Given the description of an element on the screen output the (x, y) to click on. 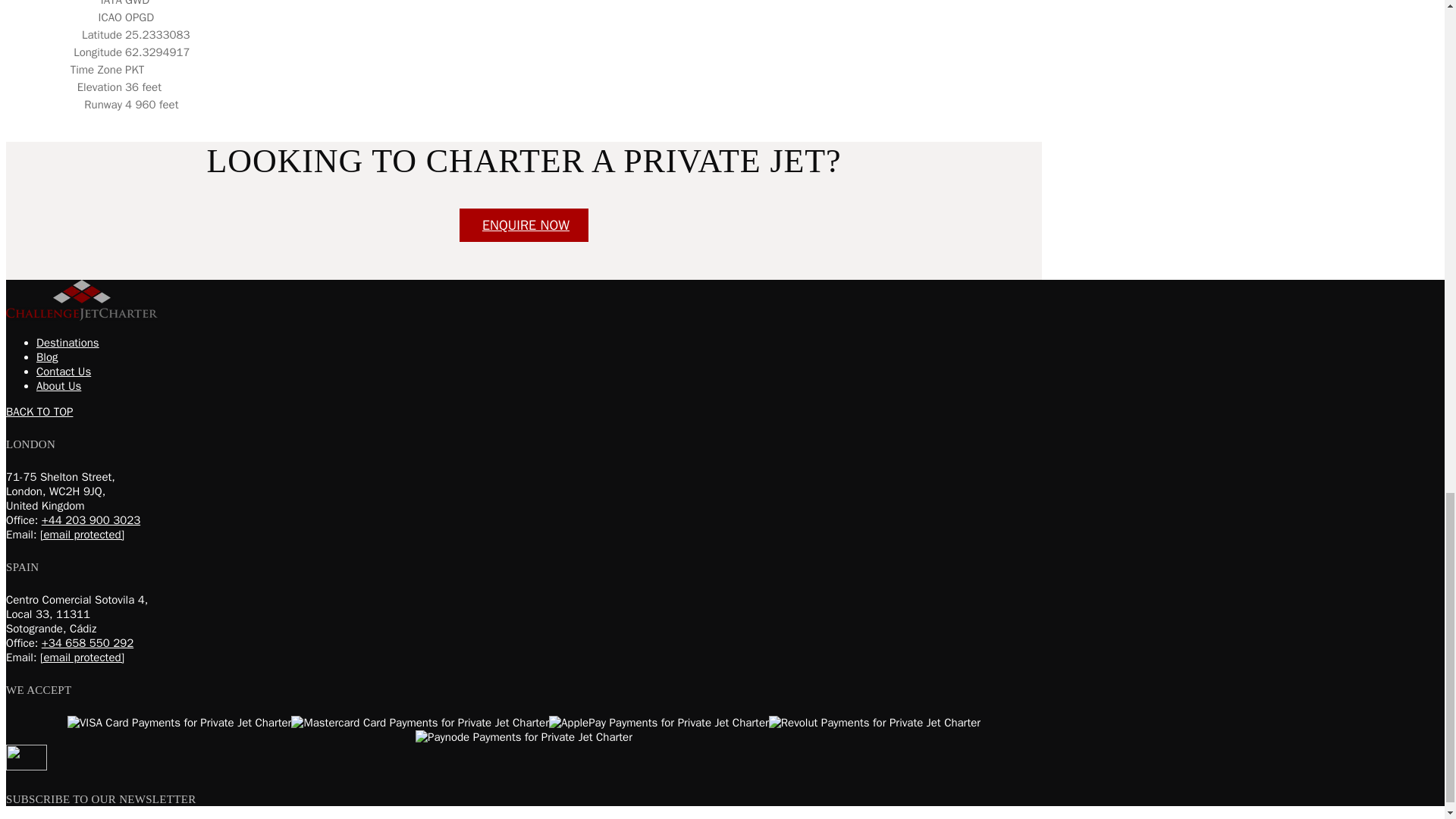
BACK TO TOP (38, 411)
Contact Us (524, 224)
ENQUIRE NOW (524, 224)
Destinations (67, 342)
